Given the description of an element on the screen output the (x, y) to click on. 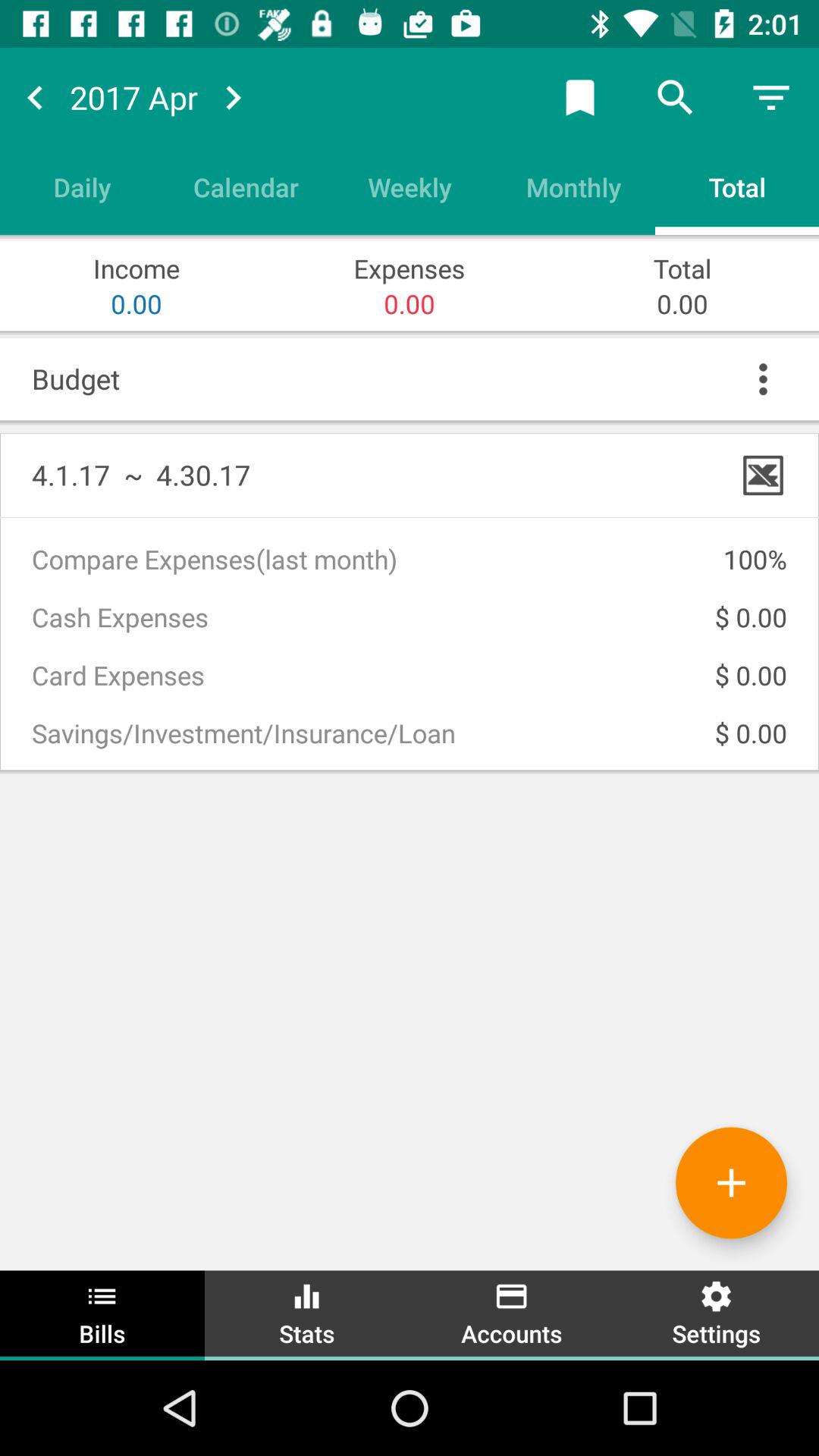
to add a bill (731, 1182)
